Given the description of an element on the screen output the (x, y) to click on. 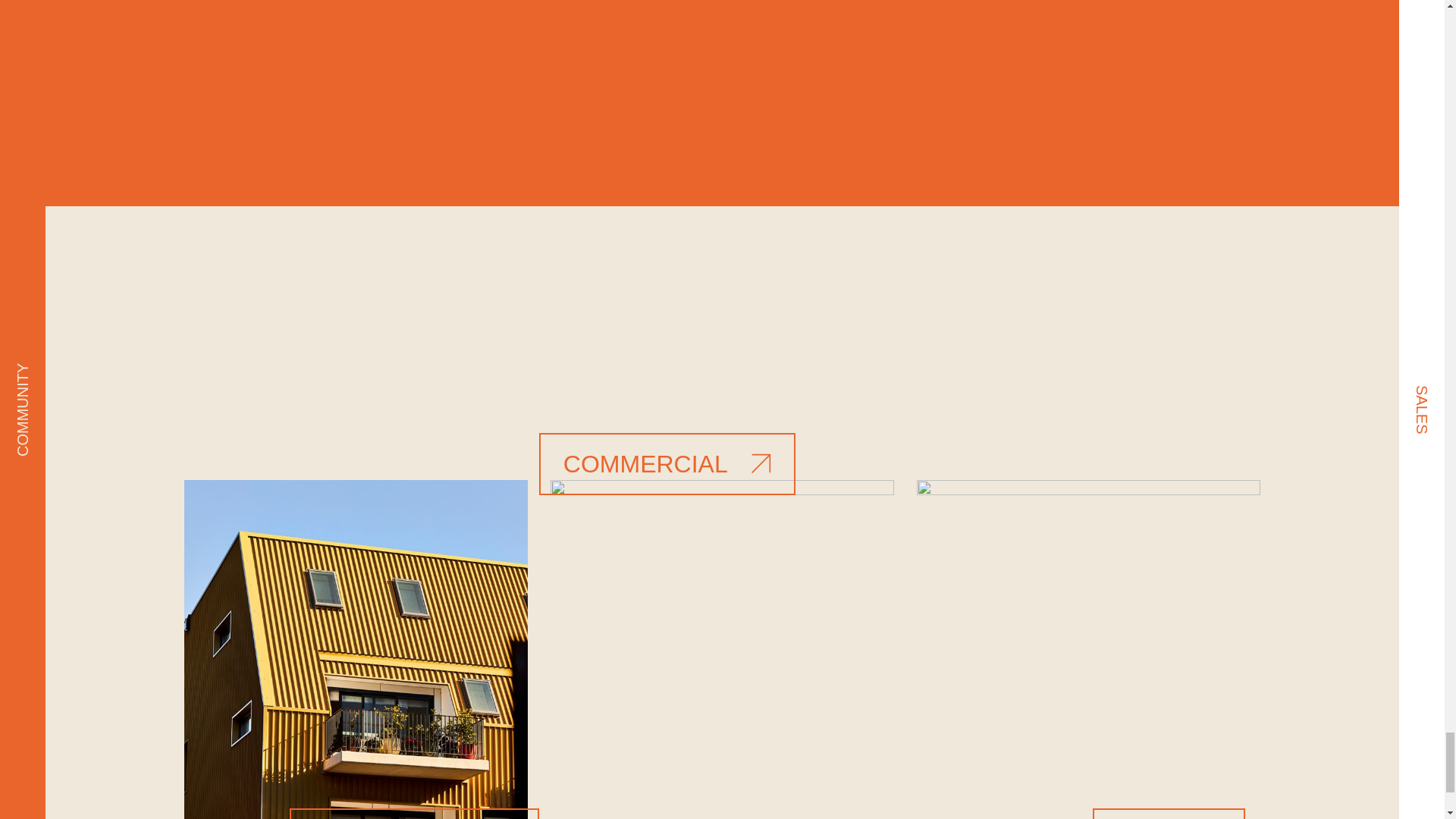
COMMERCIAL (666, 464)
RESIDENCES (413, 813)
VISIT (1168, 813)
